Given the description of an element on the screen output the (x, y) to click on. 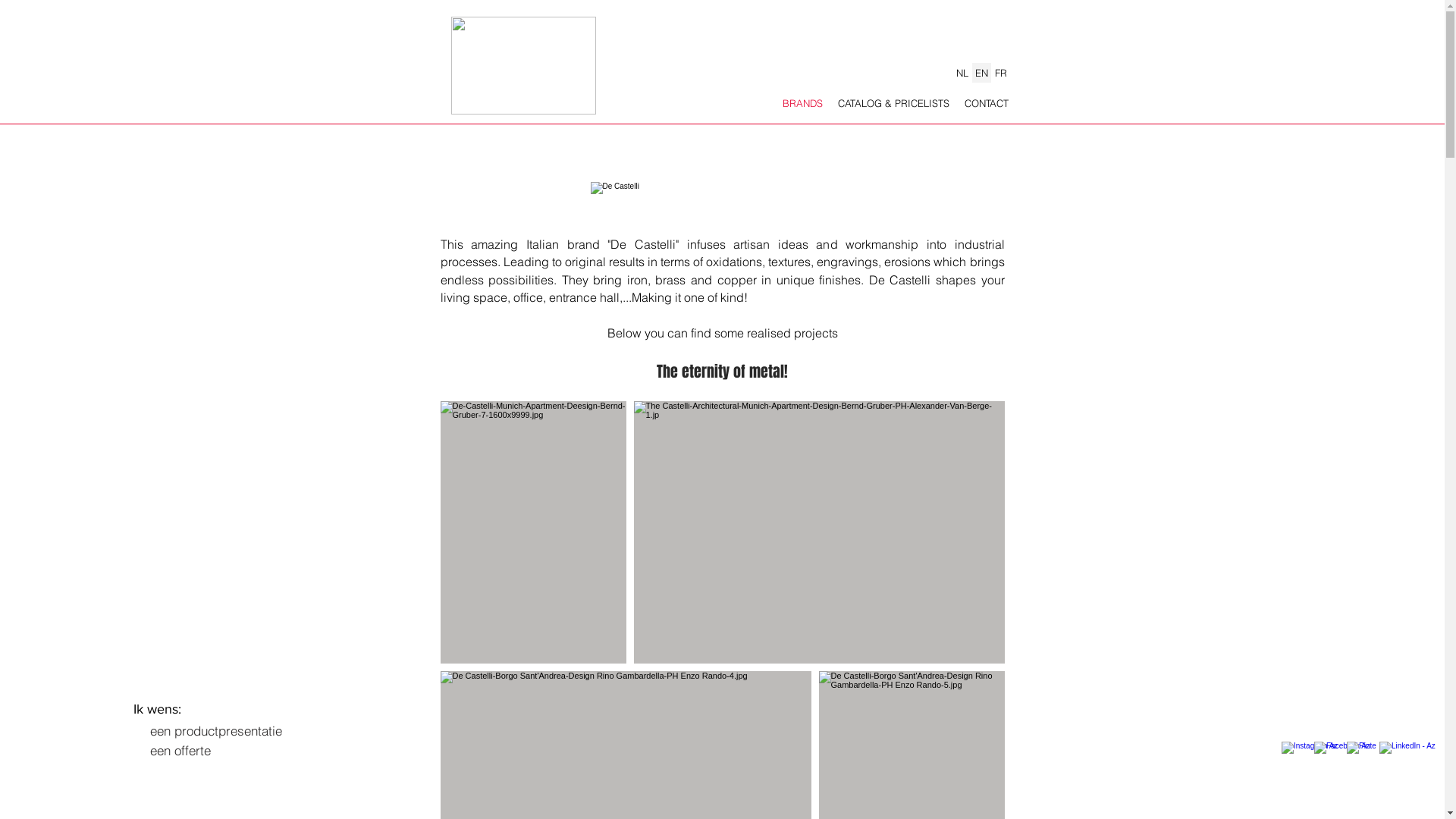
CATALOG & PRICELISTS Element type: text (892, 103)
NL Element type: text (961, 72)
EN Element type: text (980, 72)
CONTACT Element type: text (986, 103)
een productpresentatie Element type: text (215, 730)
een offerte Element type: text (180, 750)
FR Element type: text (999, 72)
BRANDS Element type: text (802, 103)
